Given the description of an element on the screen output the (x, y) to click on. 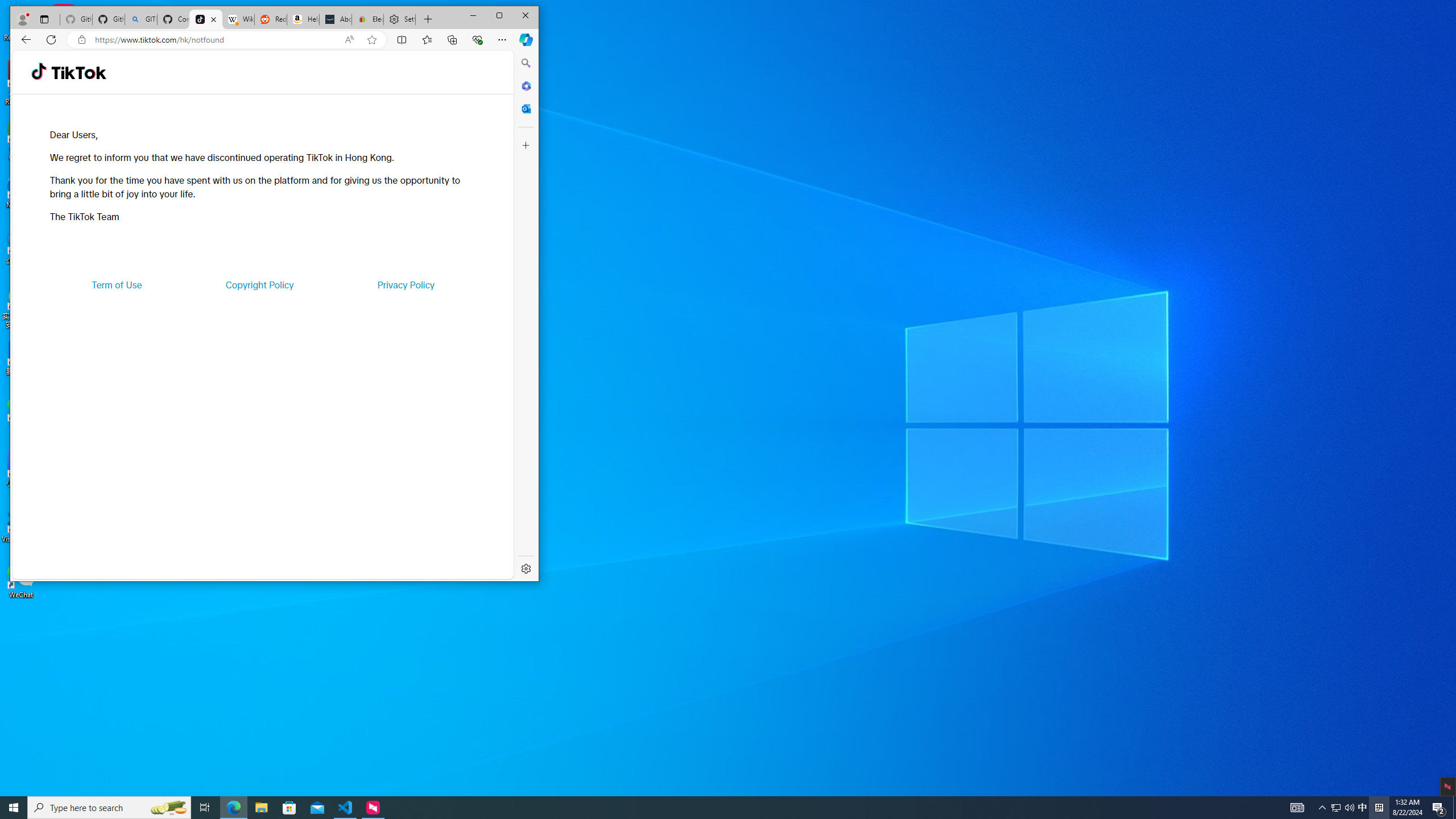
Task View (204, 807)
TikTok (1335, 807)
Notification Chevron (205, 19)
File Explorer (1322, 807)
Close Outlook pane (261, 807)
